Given the description of an element on the screen output the (x, y) to click on. 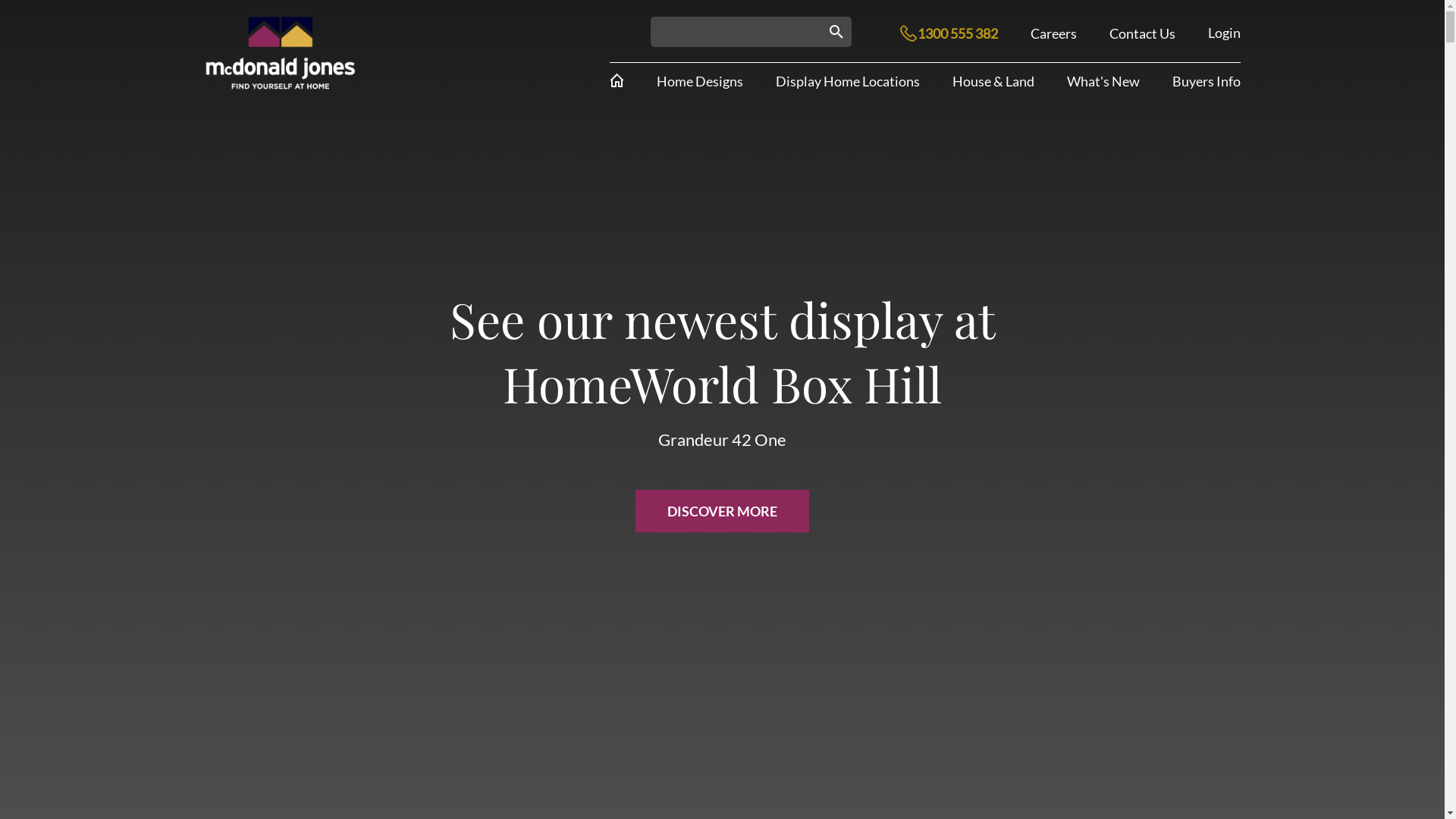
Display Home Locations Element type: text (847, 80)
Login Element type: text (1223, 32)
See our newest display at HomeWorld Box Hill Element type: text (722, 350)
Buyers Info Element type: text (1206, 80)
Home Designs Element type: text (699, 80)
Careers Element type: text (1052, 33)
DISCOVER MORE Element type: text (722, 510)
phone-cally Created with Sketch. 1300 555 382 Element type: text (929, 33)
Home Element type: hover (280, 53)
What's New Element type: text (1102, 80)
Home Element type: hover (616, 80)
House & Land Element type: text (993, 80)
Skip to main content Element type: text (0, 0)
Search Element type: text (869, 39)
Contact Us Element type: text (1141, 33)
